Given the description of an element on the screen output the (x, y) to click on. 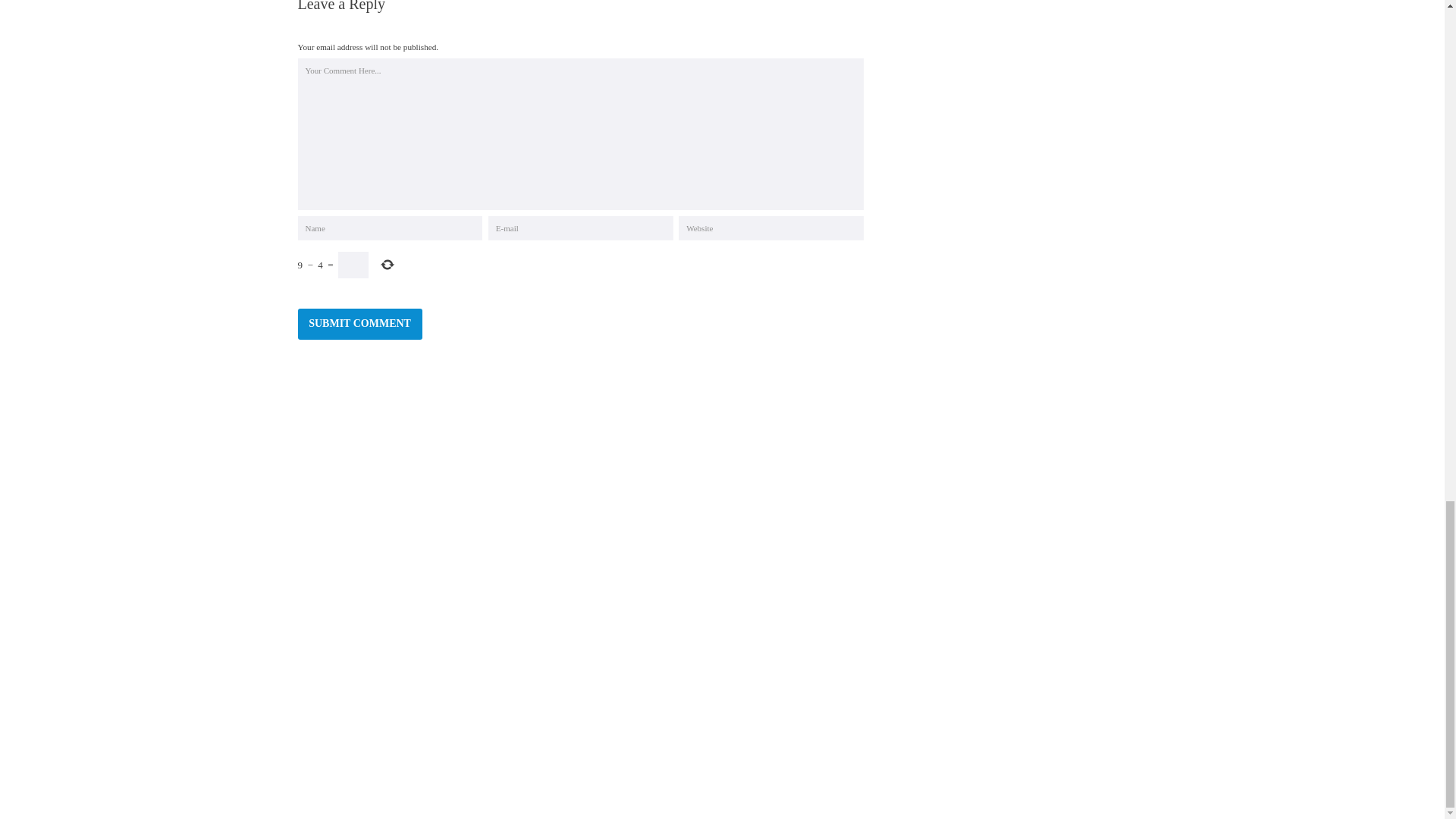
Submit Comment (359, 323)
